Given the description of an element on the screen output the (x, y) to click on. 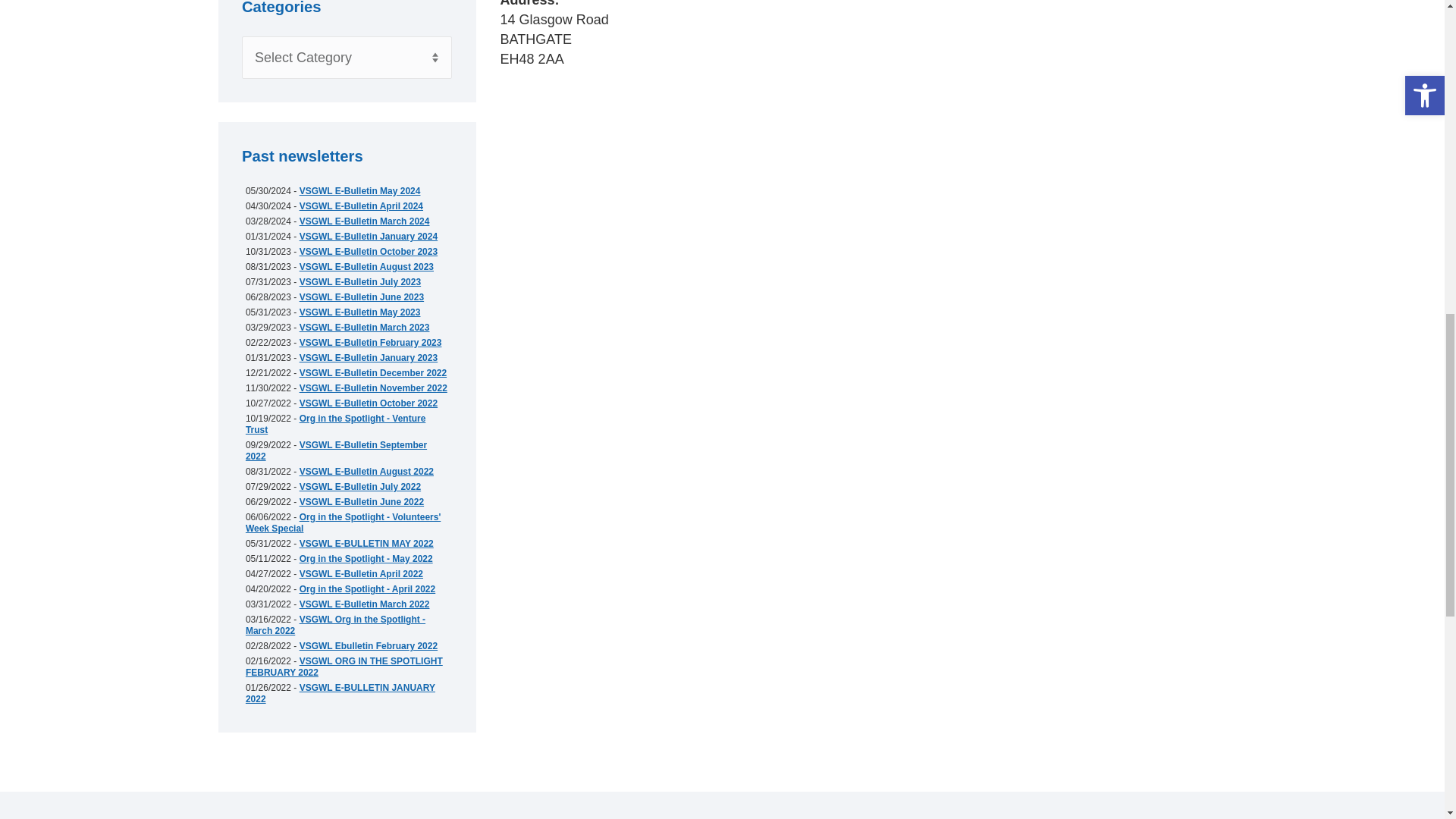
VSGWL E-Bulletin August 2023 (366, 266)
VSGWL E-Bulletin January 2024 (368, 235)
VSGWL E-Bulletin May 2023 (359, 312)
VSGWL E-Bulletin October 2023 (368, 251)
VSGWL E-Bulletin April 2024 (361, 205)
VSGWL E-Bulletin June 2023 (361, 296)
VSGWL E-Bulletin July 2023 (360, 281)
VSGWL E-Bulletin February 2023 (370, 342)
VSGWL E-Bulletin May 2024 (359, 190)
VSGWL E-Bulletin March 2024 (364, 221)
VSGWL E-Bulletin March 2023 (364, 327)
